Given the description of an element on the screen output the (x, y) to click on. 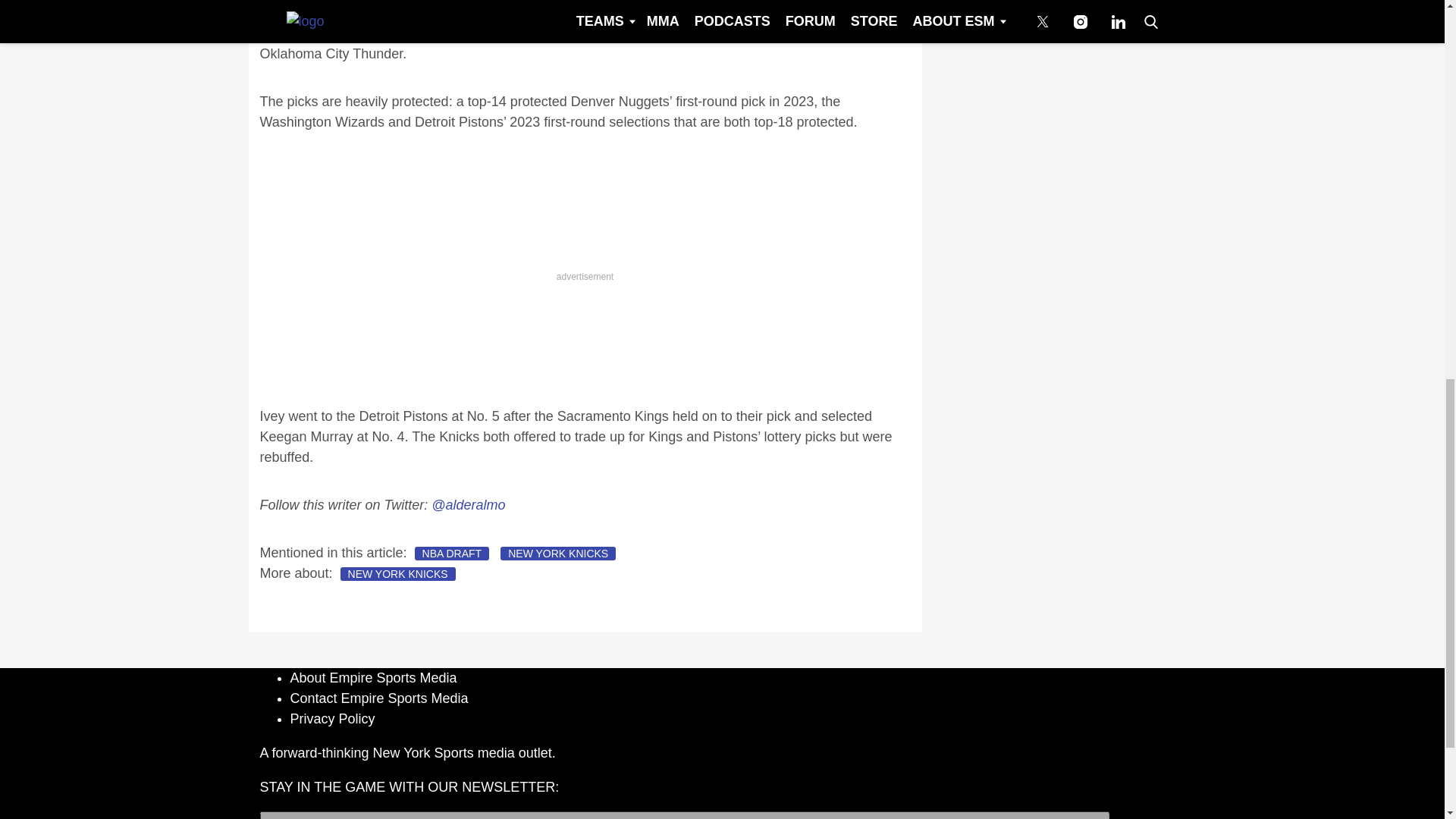
NEW YORK KNICKS (557, 553)
Contact Empire Sports Media (378, 698)
About Empire Sports Media (373, 677)
NEW YORK KNICKS (397, 573)
Sign Up (1145, 815)
NBA DRAFT (451, 553)
Privacy Policy (331, 718)
